Given the description of an element on the screen output the (x, y) to click on. 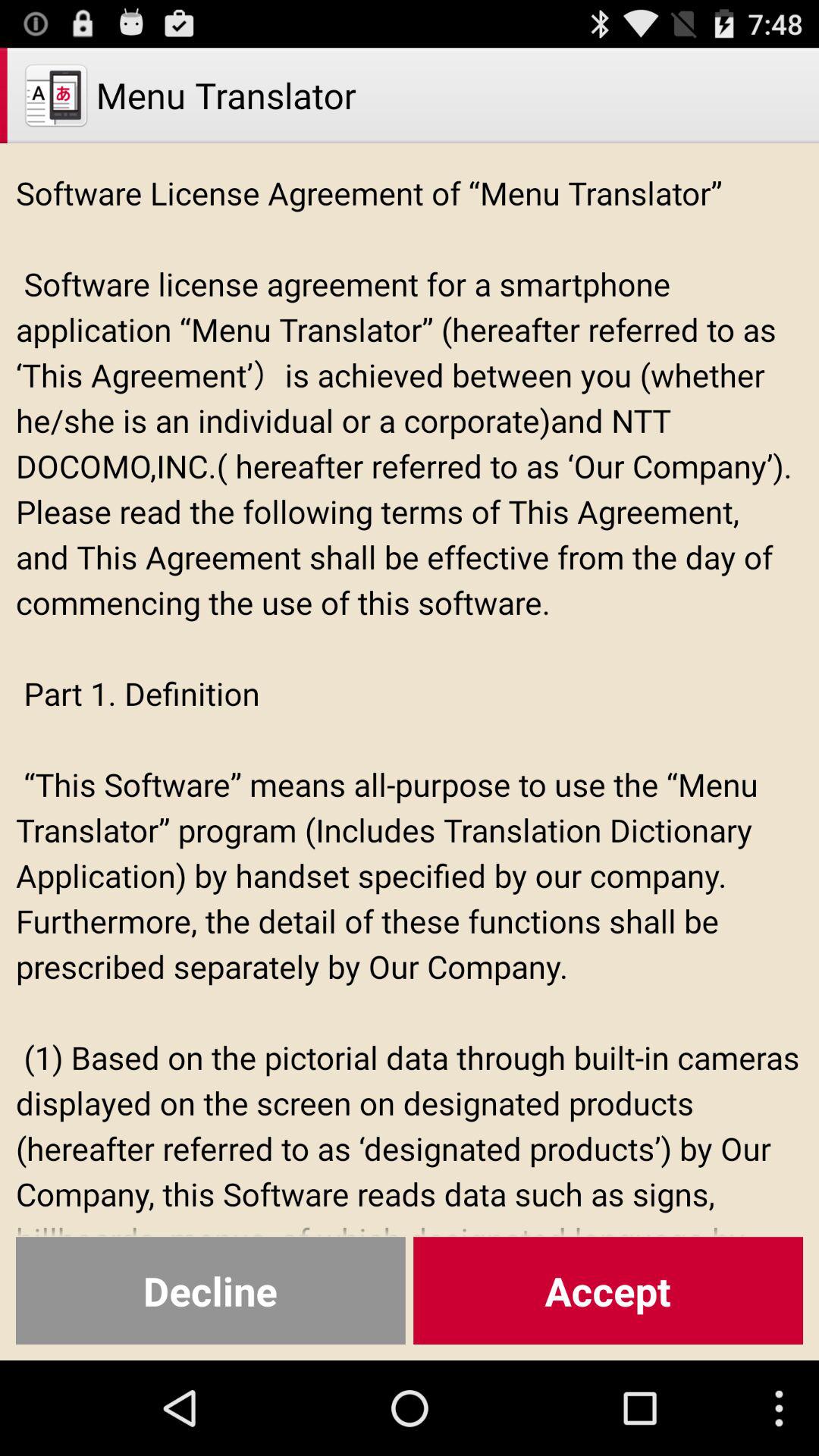
launch the item below the software license agreement icon (608, 1290)
